Given the description of an element on the screen output the (x, y) to click on. 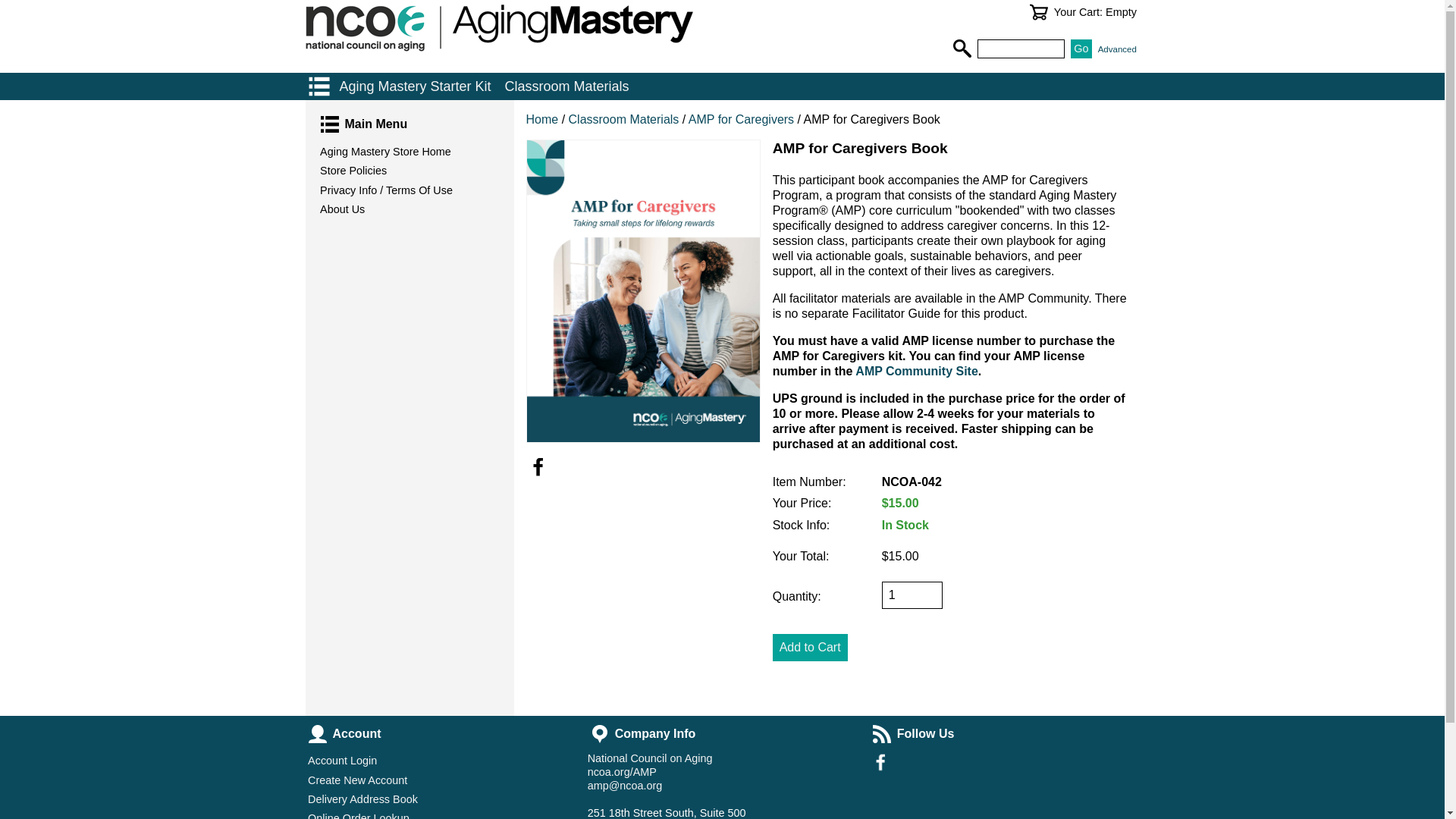
Go (1081, 48)
Account Login (439, 760)
Advanced (1117, 49)
AMP for Caregivers (740, 119)
Classroom Materials (566, 85)
Aging Mastery Store Home (408, 151)
Store Policies (408, 170)
1 (912, 595)
Classroom Materials (625, 119)
Account Login (439, 760)
Add to Cart (810, 646)
Go (1081, 48)
National Council on Aging (650, 758)
About Us (408, 208)
Home (542, 119)
